Given the description of an element on the screen output the (x, y) to click on. 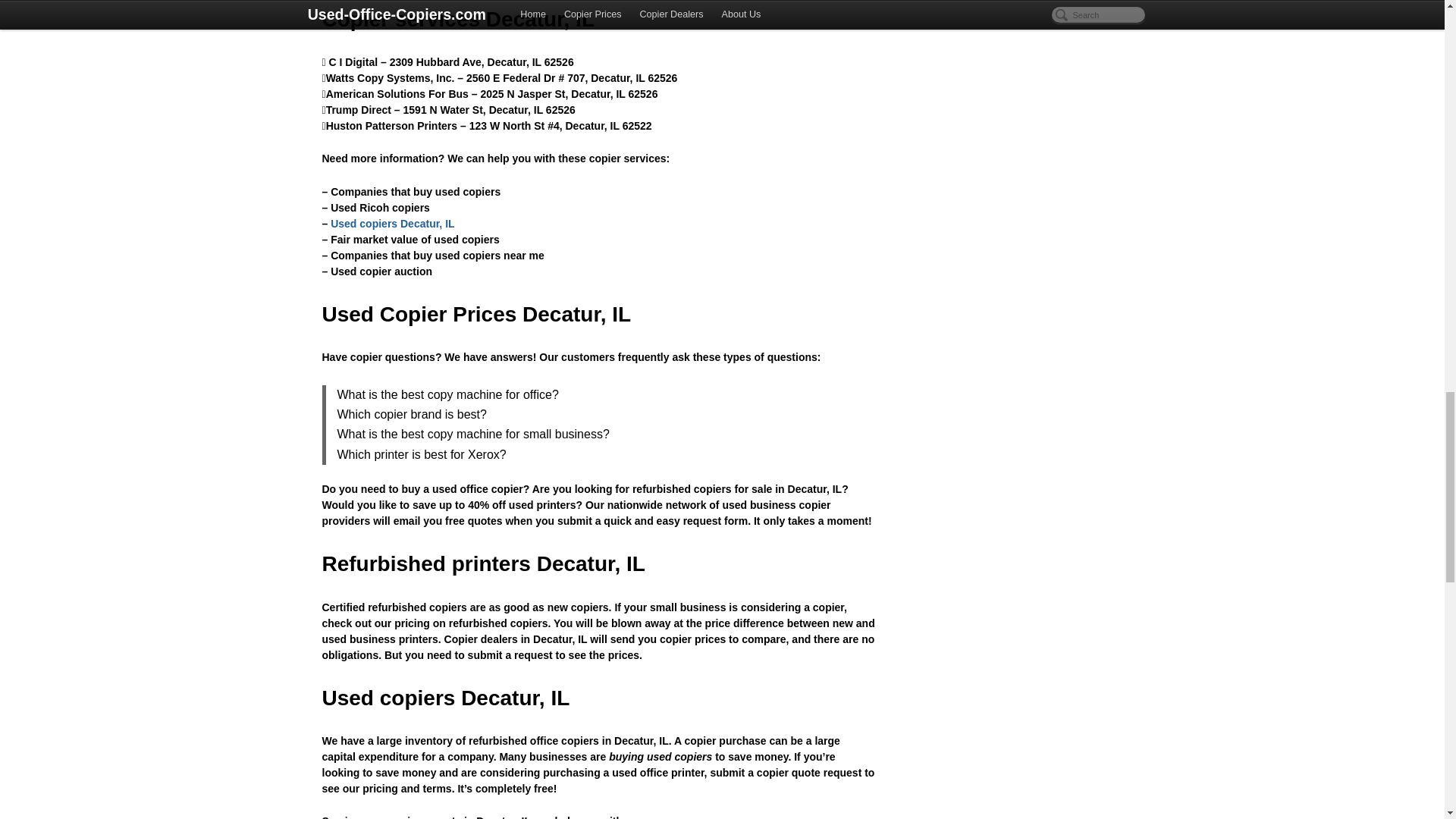
Used copiers Decatur, IL (392, 223)
